Given the description of an element on the screen output the (x, y) to click on. 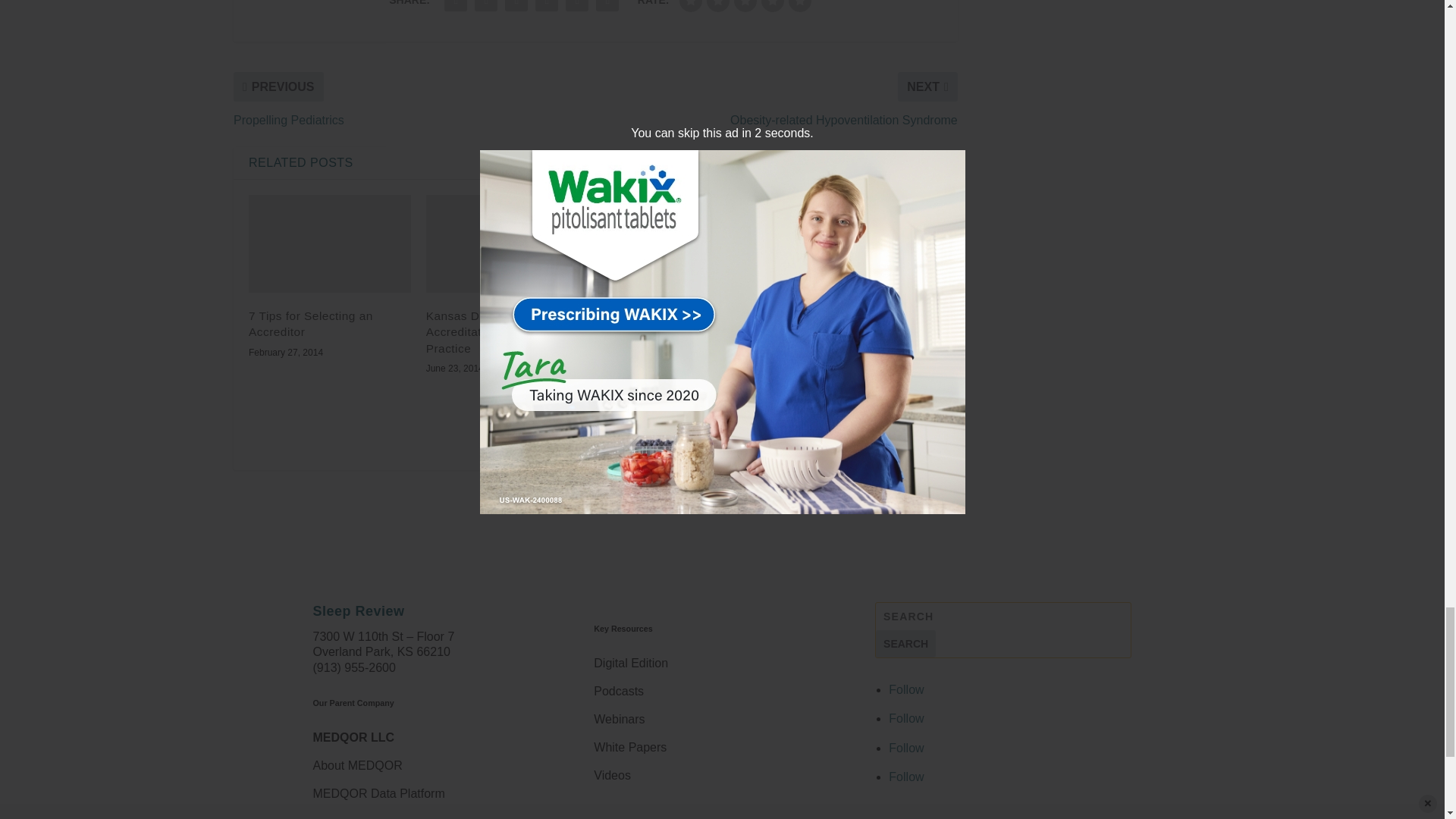
Search (906, 643)
bad (690, 6)
gorgeous (799, 6)
good (772, 6)
regular (745, 6)
poor (717, 6)
